Given the description of an element on the screen output the (x, y) to click on. 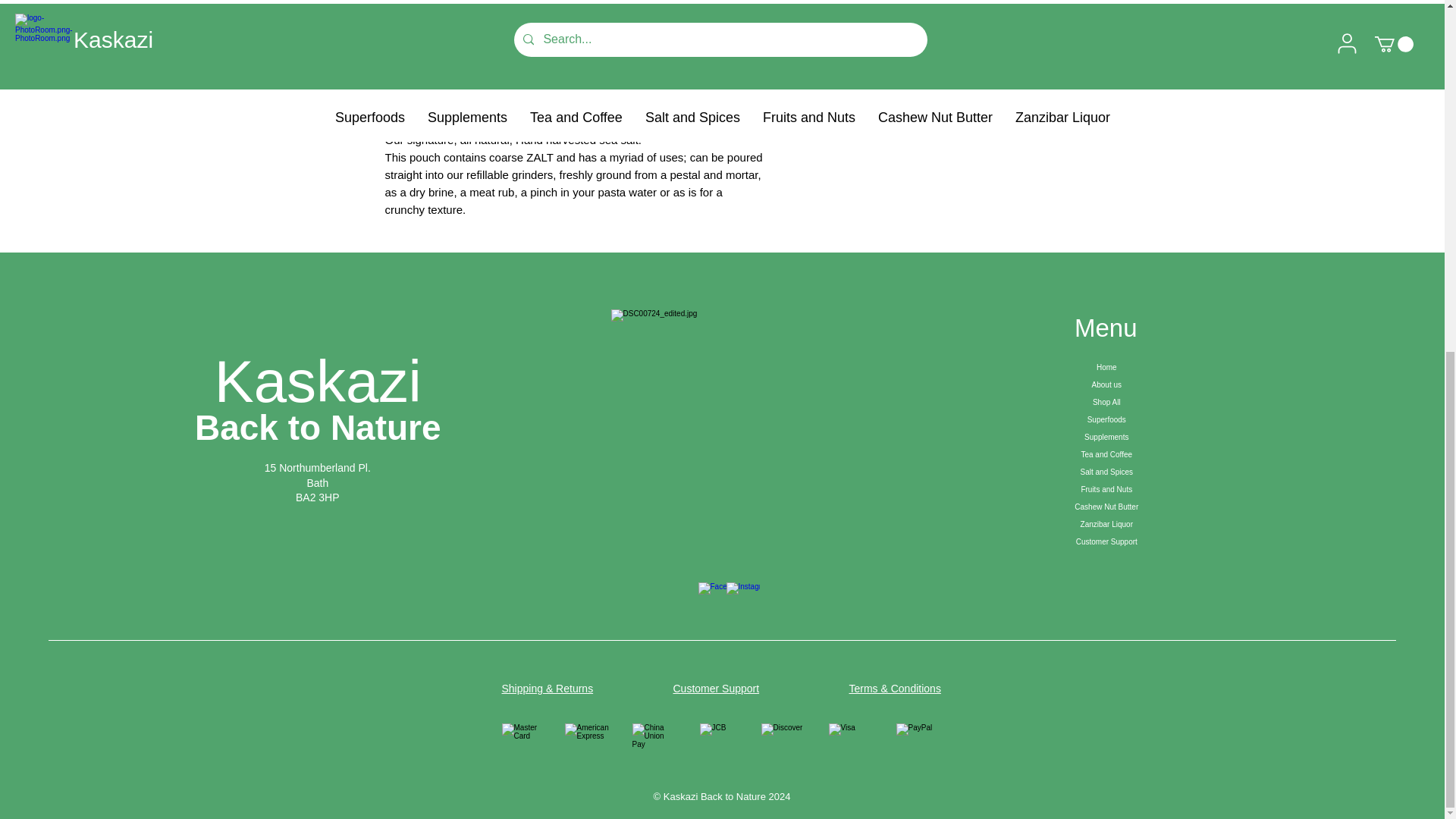
Boat (721, 430)
Fruits and Nuts (1105, 488)
Salt and Spices (1105, 471)
Cashew Nut Butter (1105, 506)
Supplements (1105, 436)
Shop All (1105, 402)
About us (1105, 384)
Tea and Coffee (1105, 454)
Home (1105, 366)
Kaskazi (318, 381)
Superfoods (1105, 419)
